Given the description of an element on the screen output the (x, y) to click on. 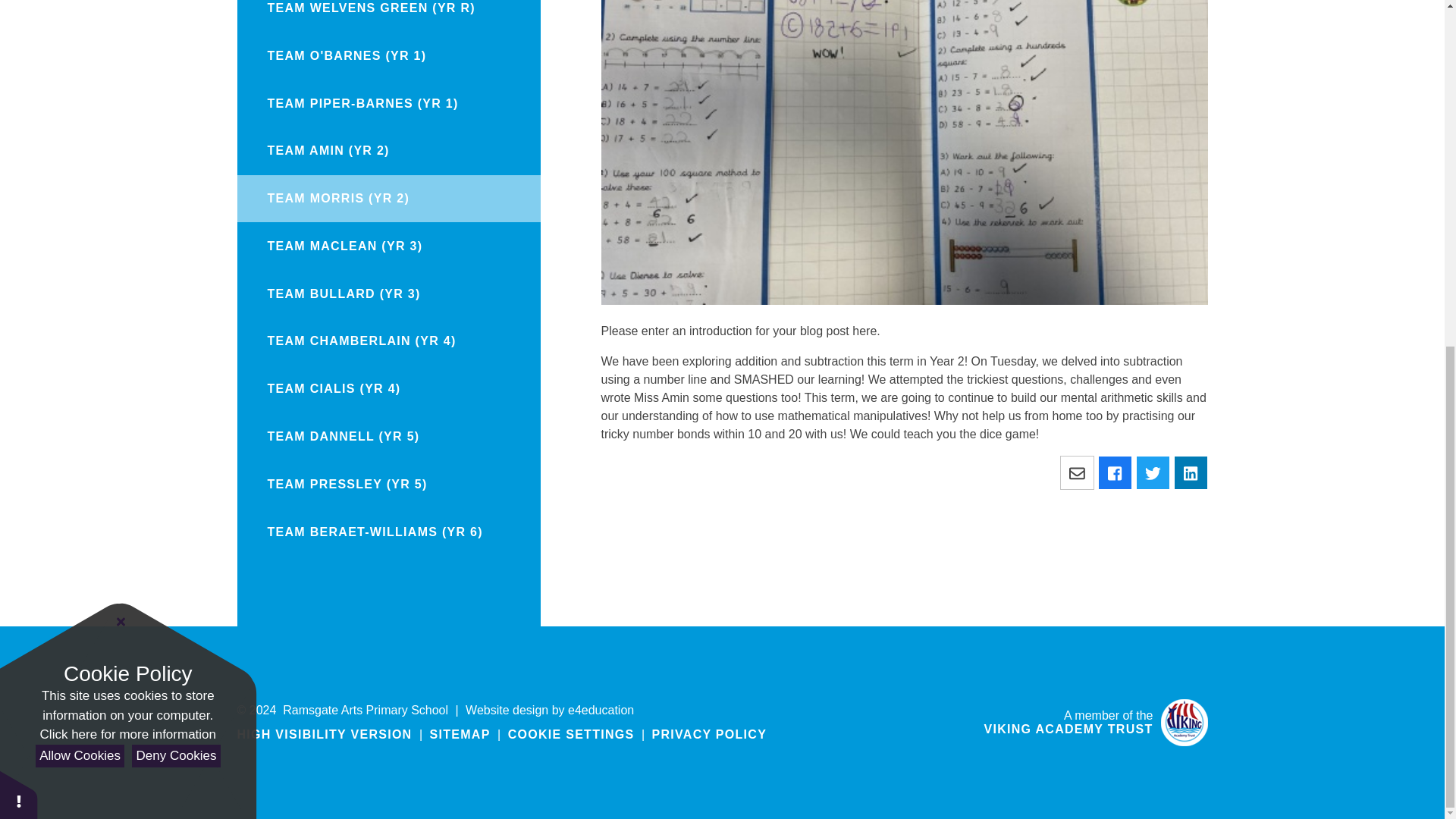
Cookie Settings (571, 734)
Allow Cookies (78, 161)
Deny Cookies (175, 161)
See cookie policy (127, 139)
